Given the description of an element on the screen output the (x, y) to click on. 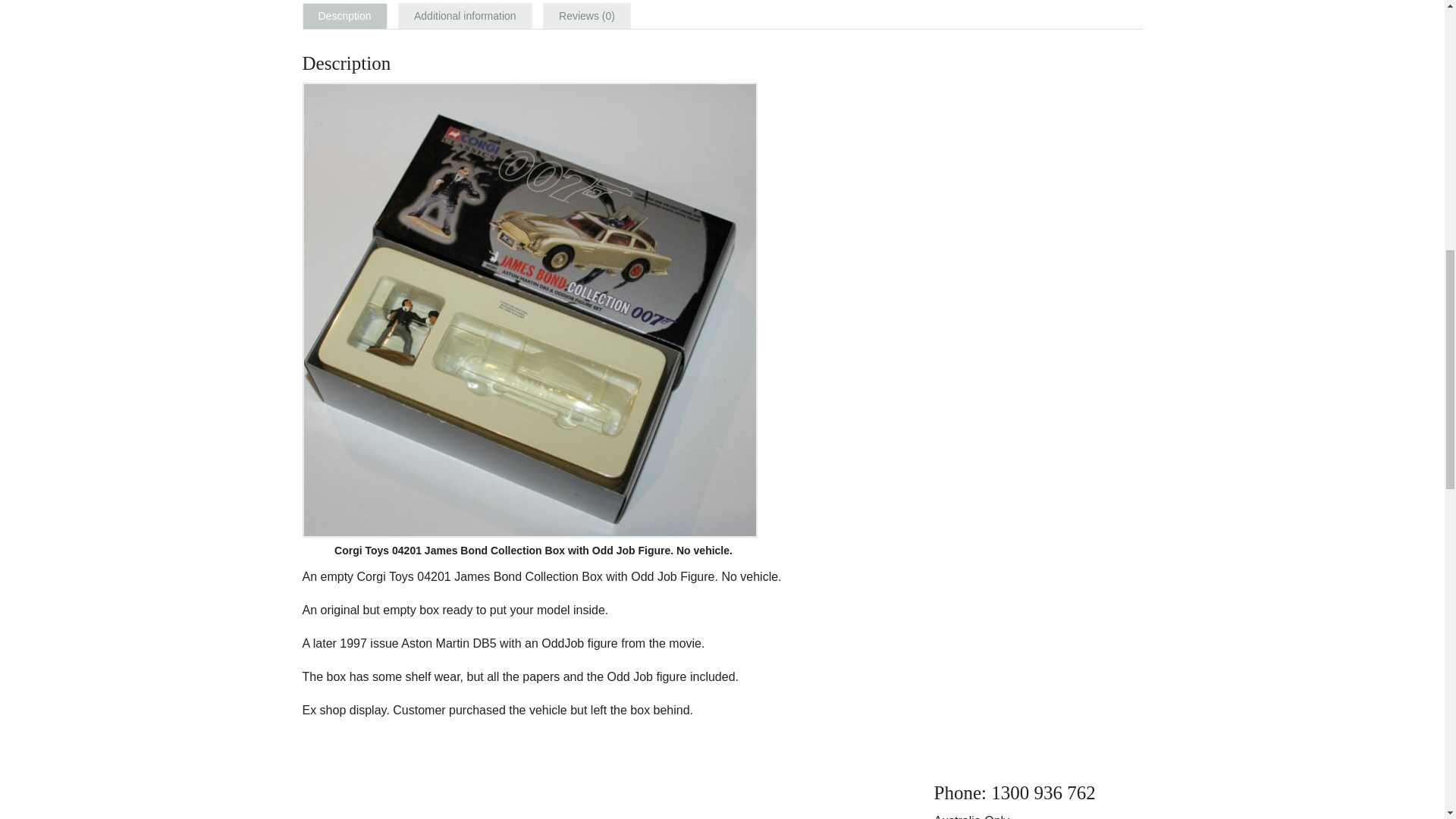
Description (344, 16)
Additional information (464, 16)
